Given the description of an element on the screen output the (x, y) to click on. 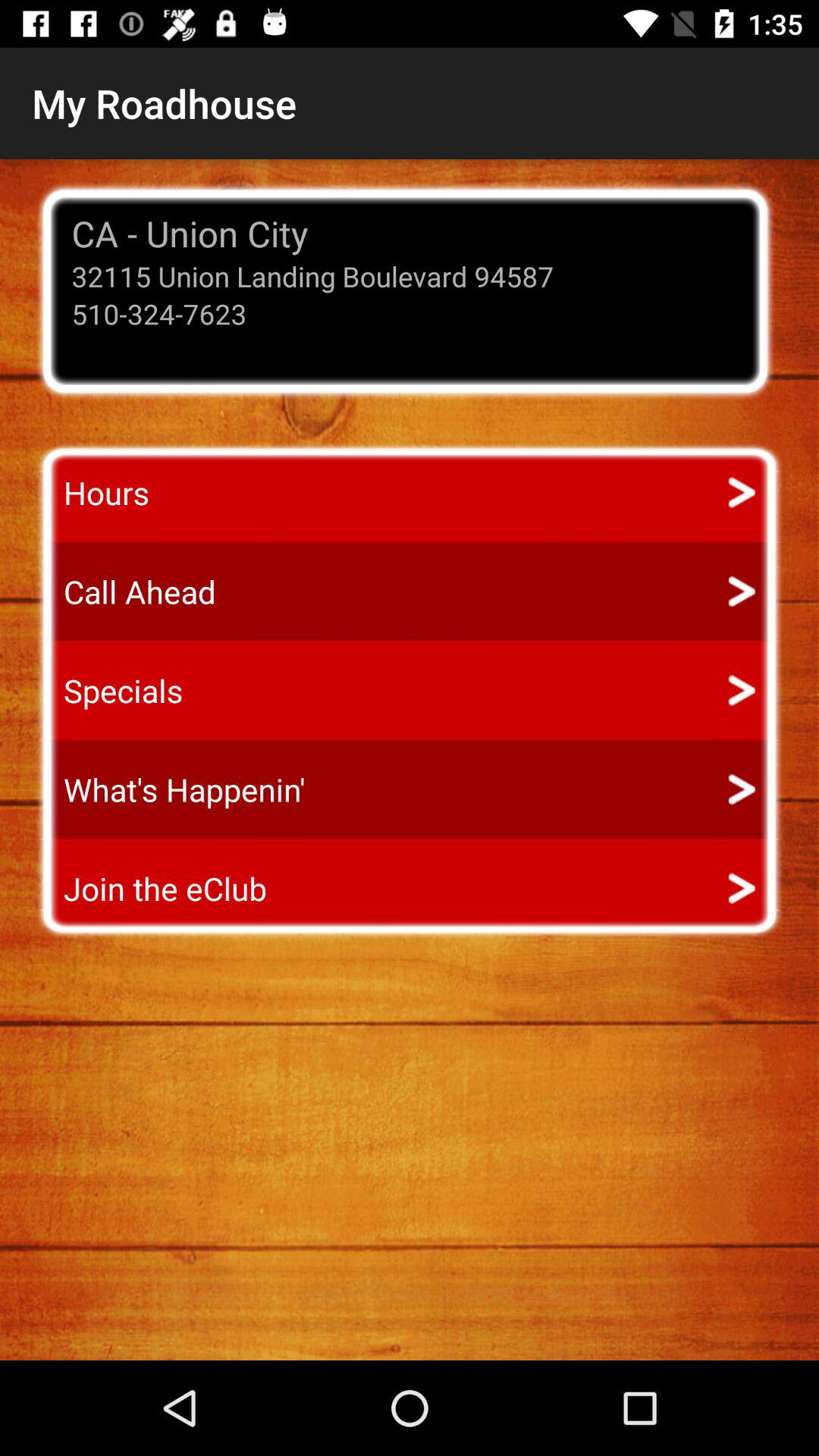
select app above the call ahead item (92, 492)
